Given the description of an element on the screen output the (x, y) to click on. 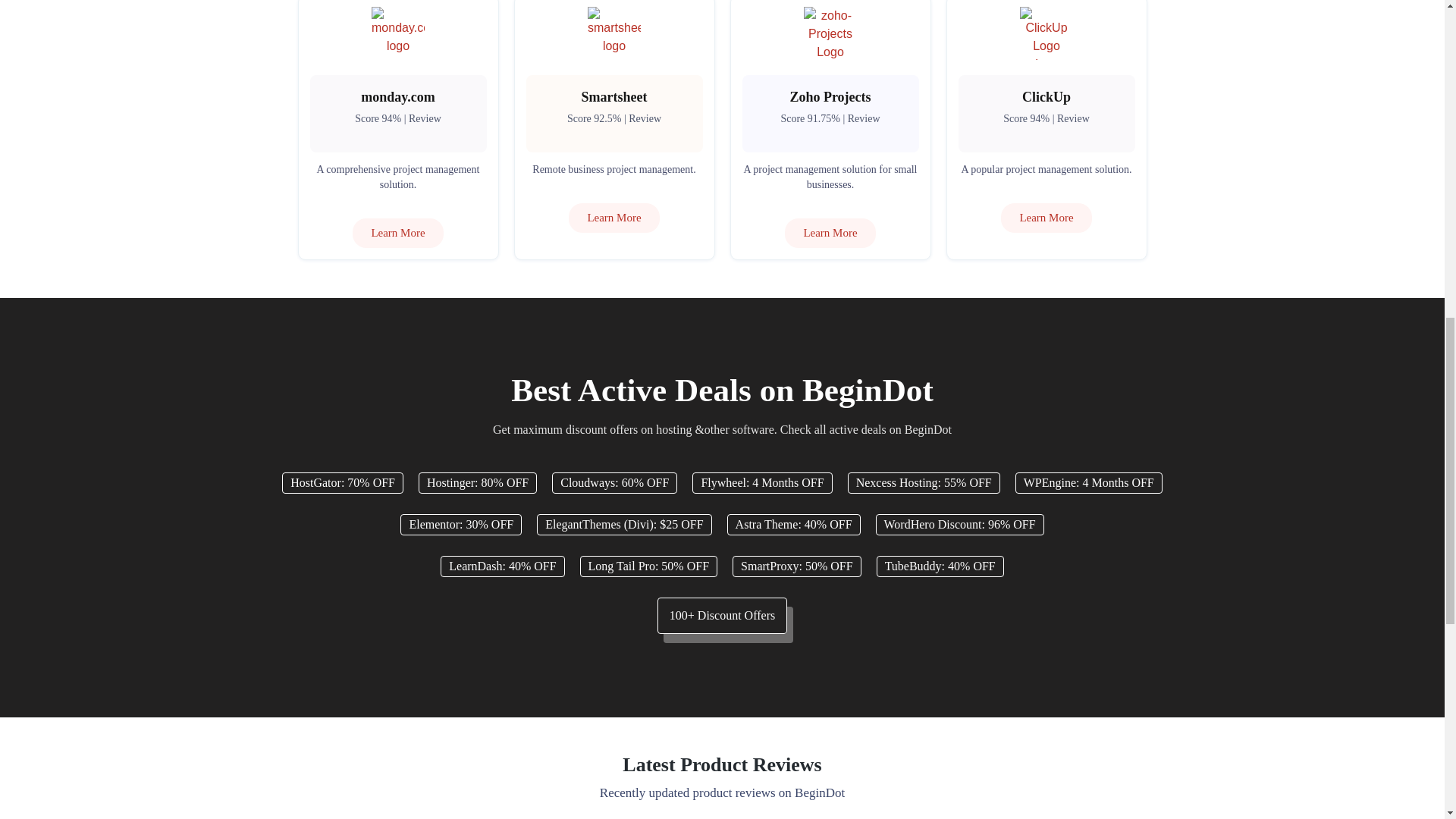
ClickUp Logo Icon (1046, 32)
zoho-Projects Logo (830, 32)
smartsheet logo (614, 32)
monday.com logo (398, 32)
